Given the description of an element on the screen output the (x, y) to click on. 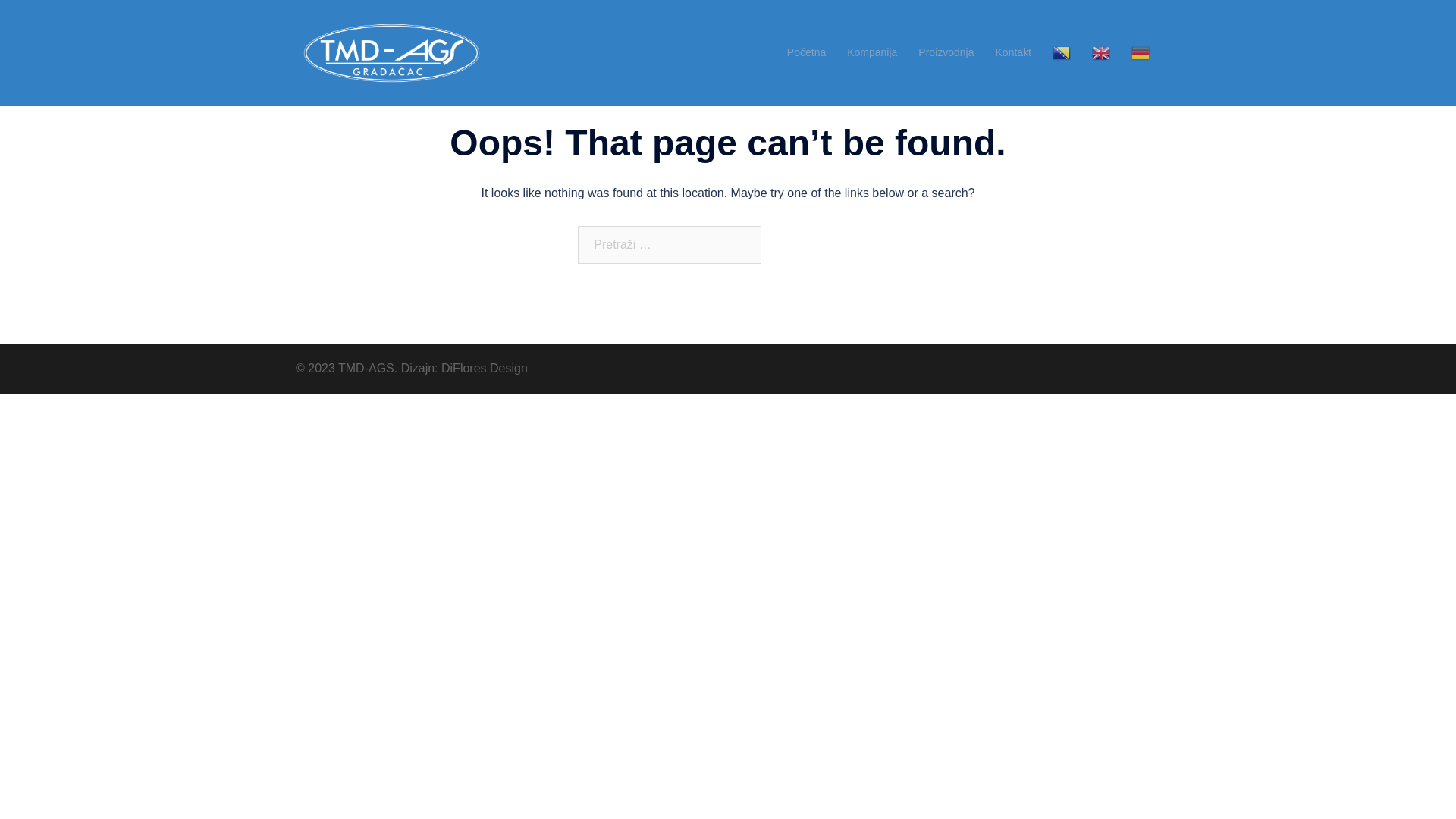
Pretraga Element type: text (821, 244)
TMD-AGS Element type: hover (391, 51)
Kompanija Element type: text (872, 52)
Kontakt Element type: text (1013, 52)
Proizvodnja Element type: text (945, 52)
German Element type: hover (1140, 52)
Bosnian Element type: hover (1061, 52)
English Element type: hover (1101, 52)
